Given the description of an element on the screen output the (x, y) to click on. 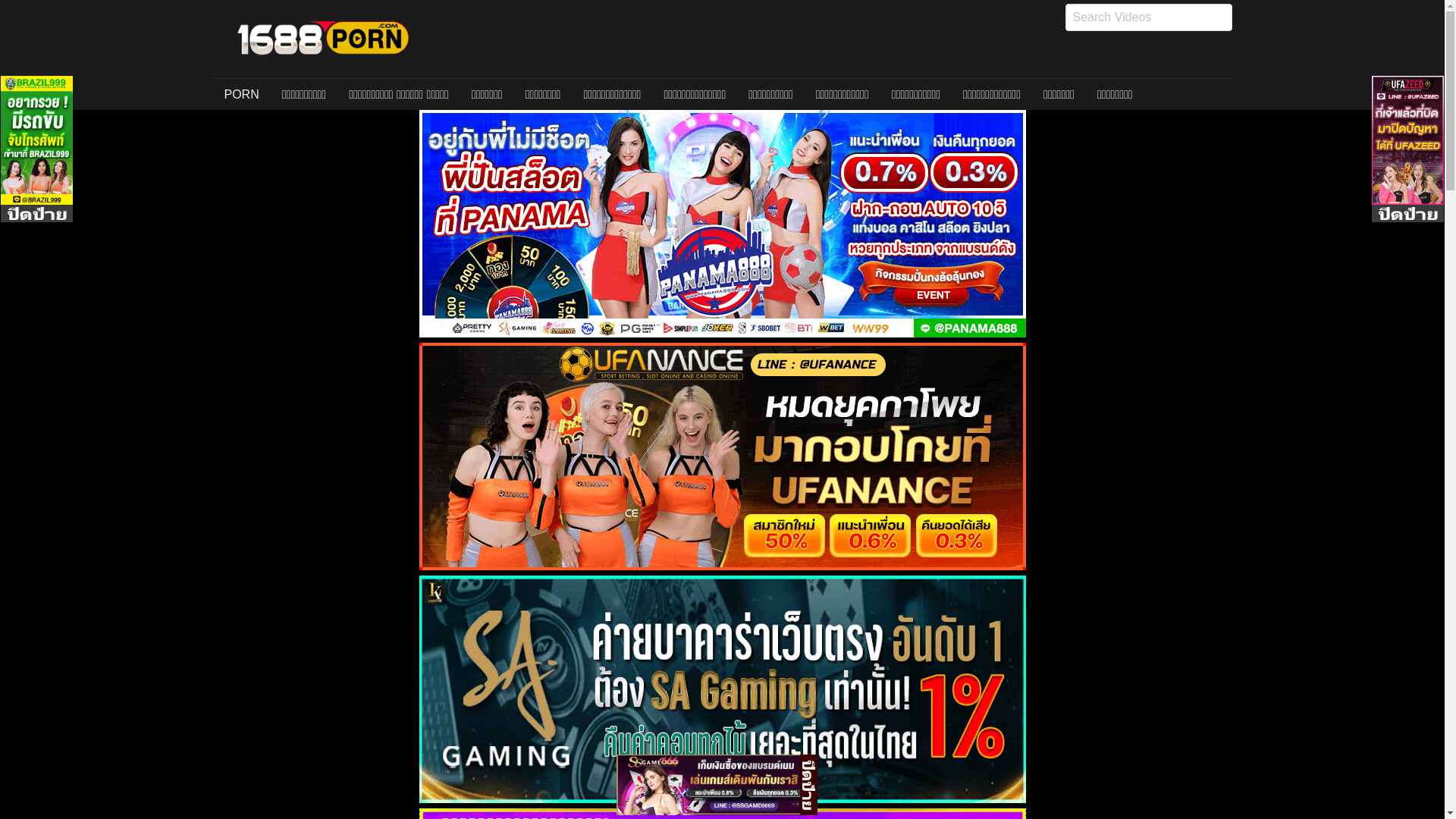
PORN Element type: text (240, 94)
